Given the description of an element on the screen output the (x, y) to click on. 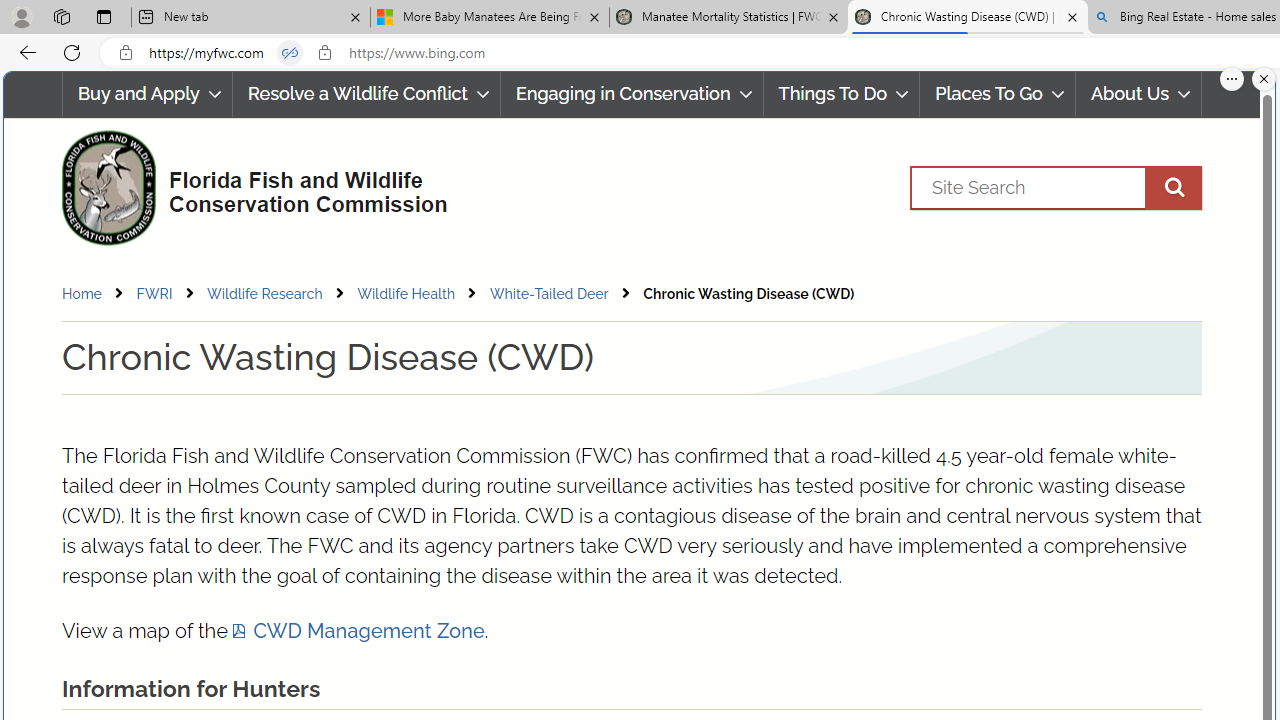
Buy and Apply (146, 94)
CWD Management Zone (358, 631)
Search (1055, 187)
Wildlife Research (280, 293)
Wildlife Research (264, 293)
Tabs in split screen (289, 53)
Chronic Wasting Disease (CWD) | FWC (967, 17)
Places To Go (997, 94)
Manatee Mortality Statistics | FWC (729, 17)
View site information (324, 53)
